Given the description of an element on the screen output the (x, y) to click on. 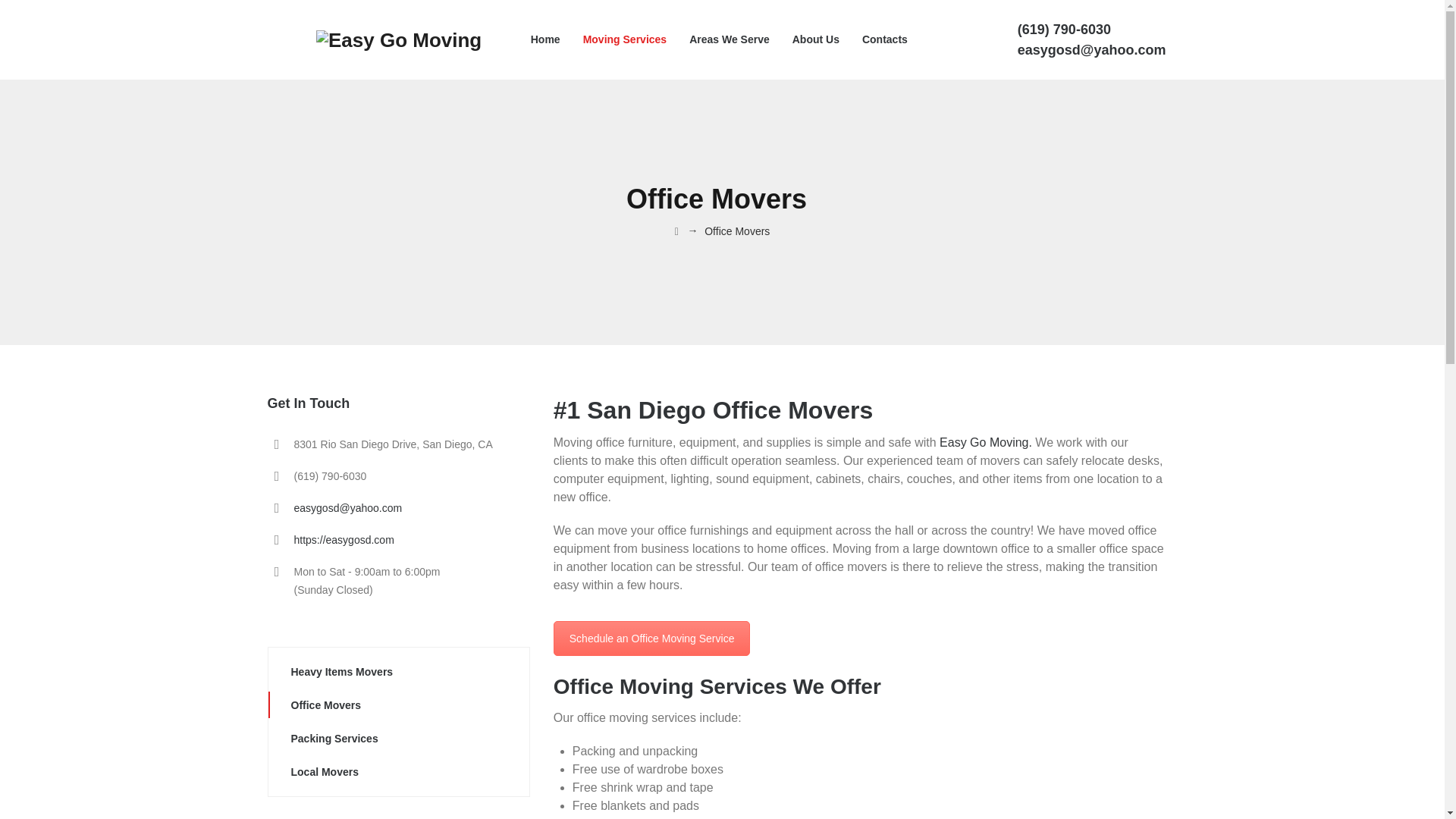
Contacts (652, 638)
Schedule an Office Moving Service (652, 638)
Easy Go Moving. (985, 441)
Areas We Serve (729, 39)
Moving Services (624, 39)
Easy Go Moving (398, 39)
